Given the description of an element on the screen output the (x, y) to click on. 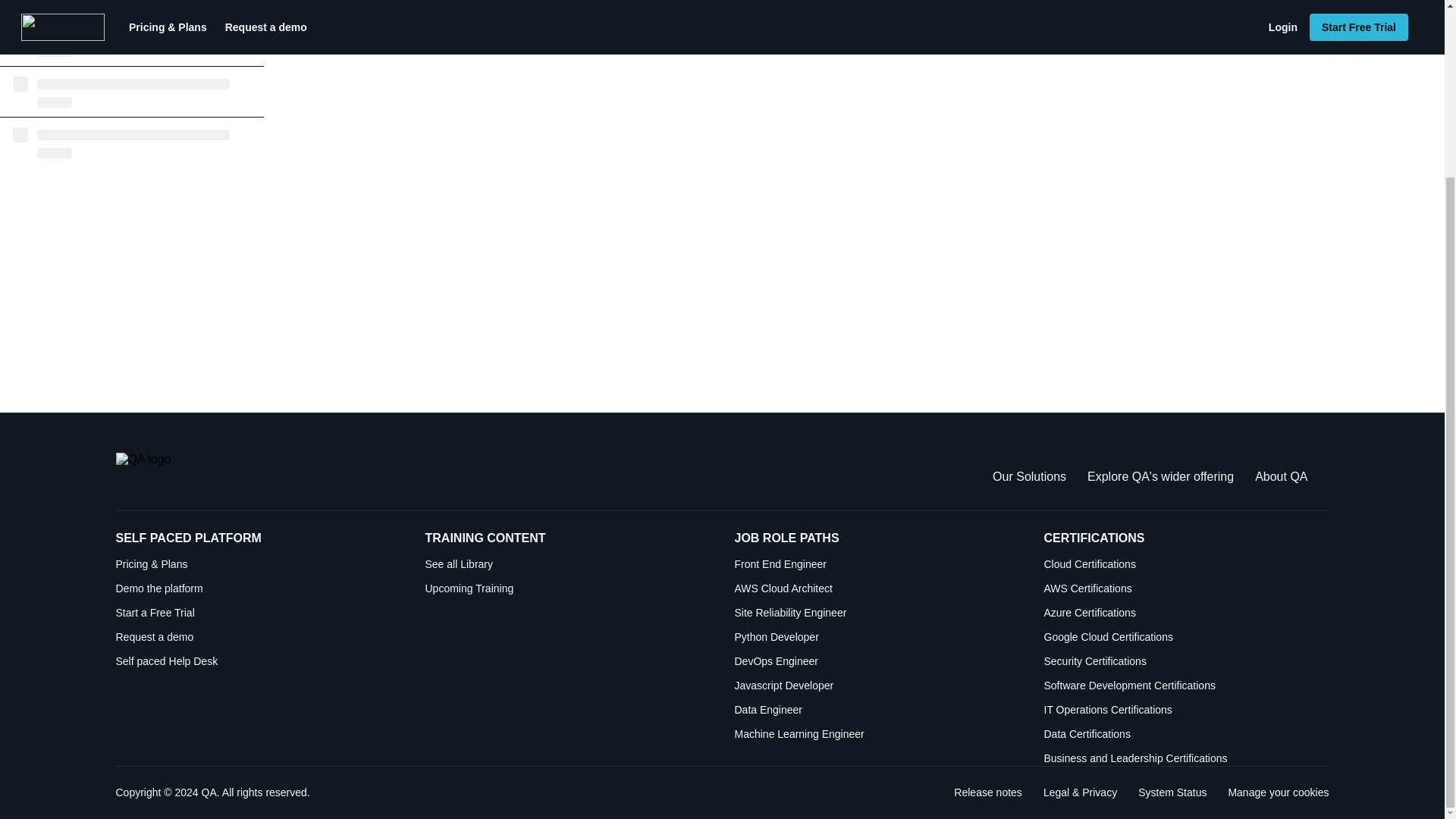
See all Library (567, 563)
Start a Free Trial (257, 612)
Request a demo (257, 636)
Our Solutions (1028, 476)
Security Certifications (1172, 792)
Software Development Certifications (1185, 661)
AWS Certifications (1185, 685)
Python Developer (1185, 588)
Machine Learning Engineer (876, 636)
Demo the platform (876, 734)
Manage your cookies (257, 588)
AWS Cloud Architect (1277, 792)
Release notes (876, 588)
Front End Engineer (987, 792)
